Given the description of an element on the screen output the (x, y) to click on. 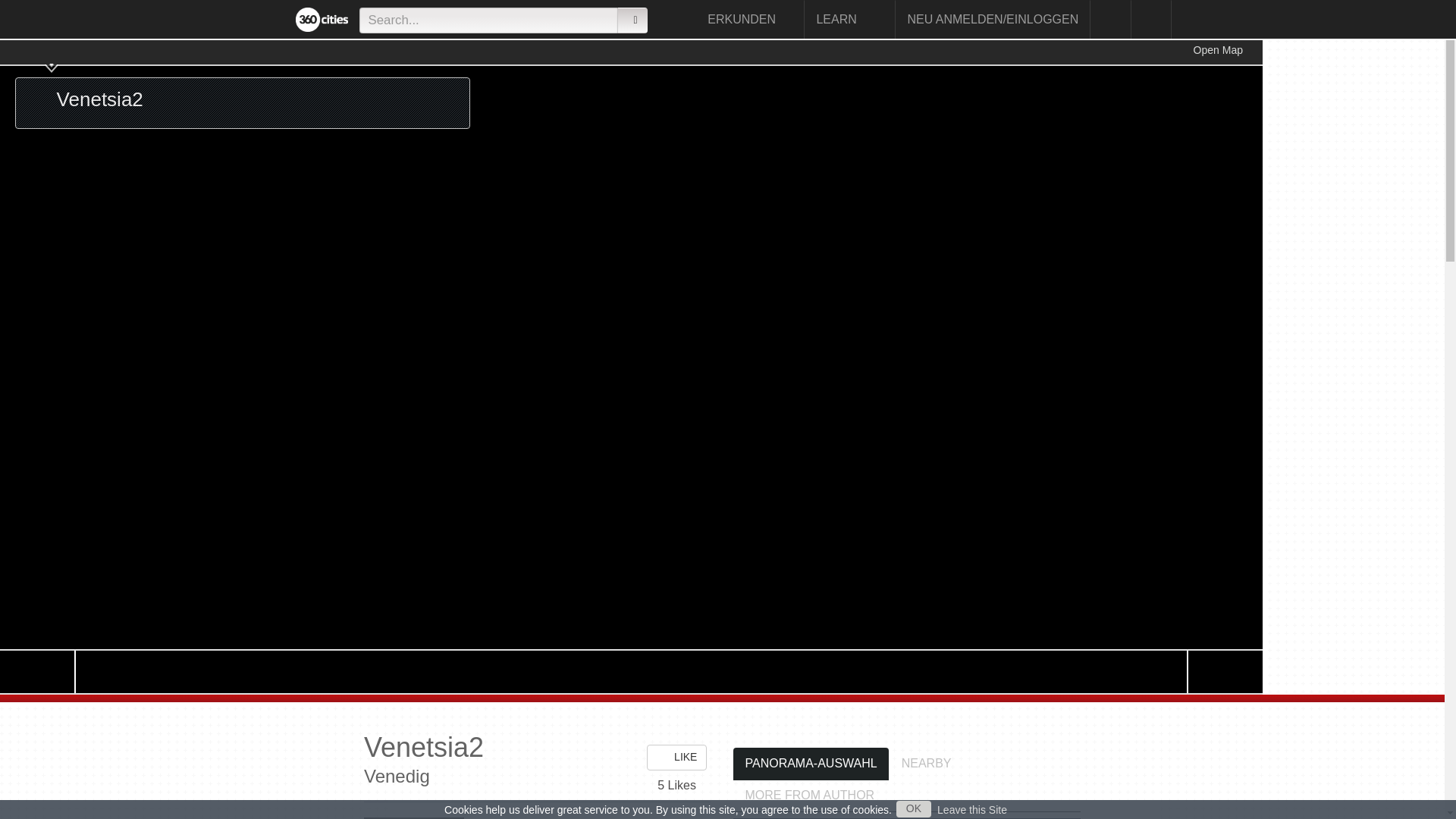
Advertisement (1338, 266)
LEARN (850, 19)
ERKUNDEN (750, 19)
